Given the description of an element on the screen output the (x, y) to click on. 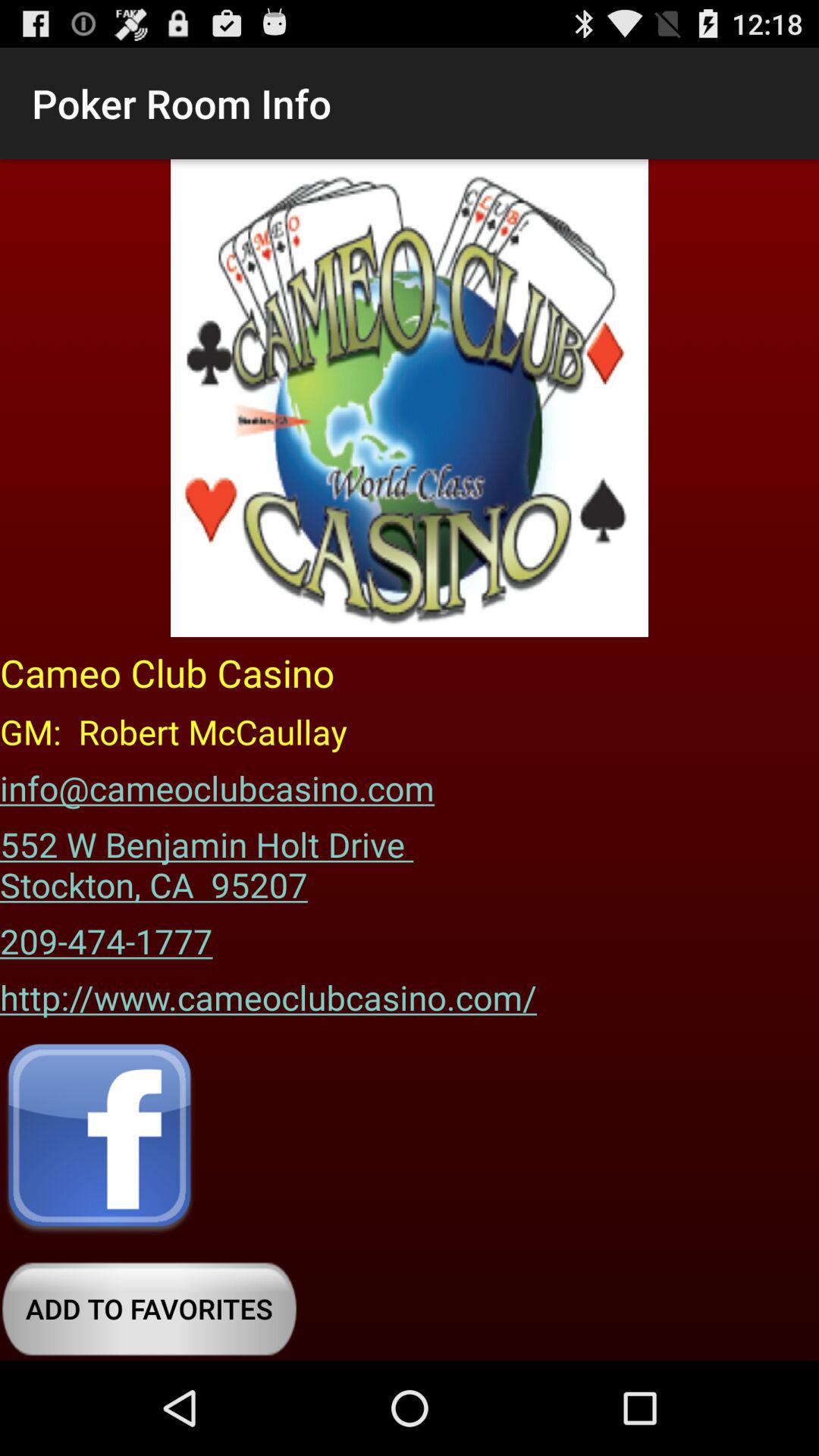
scroll until http www cameoclubcasino (268, 992)
